Given the description of an element on the screen output the (x, y) to click on. 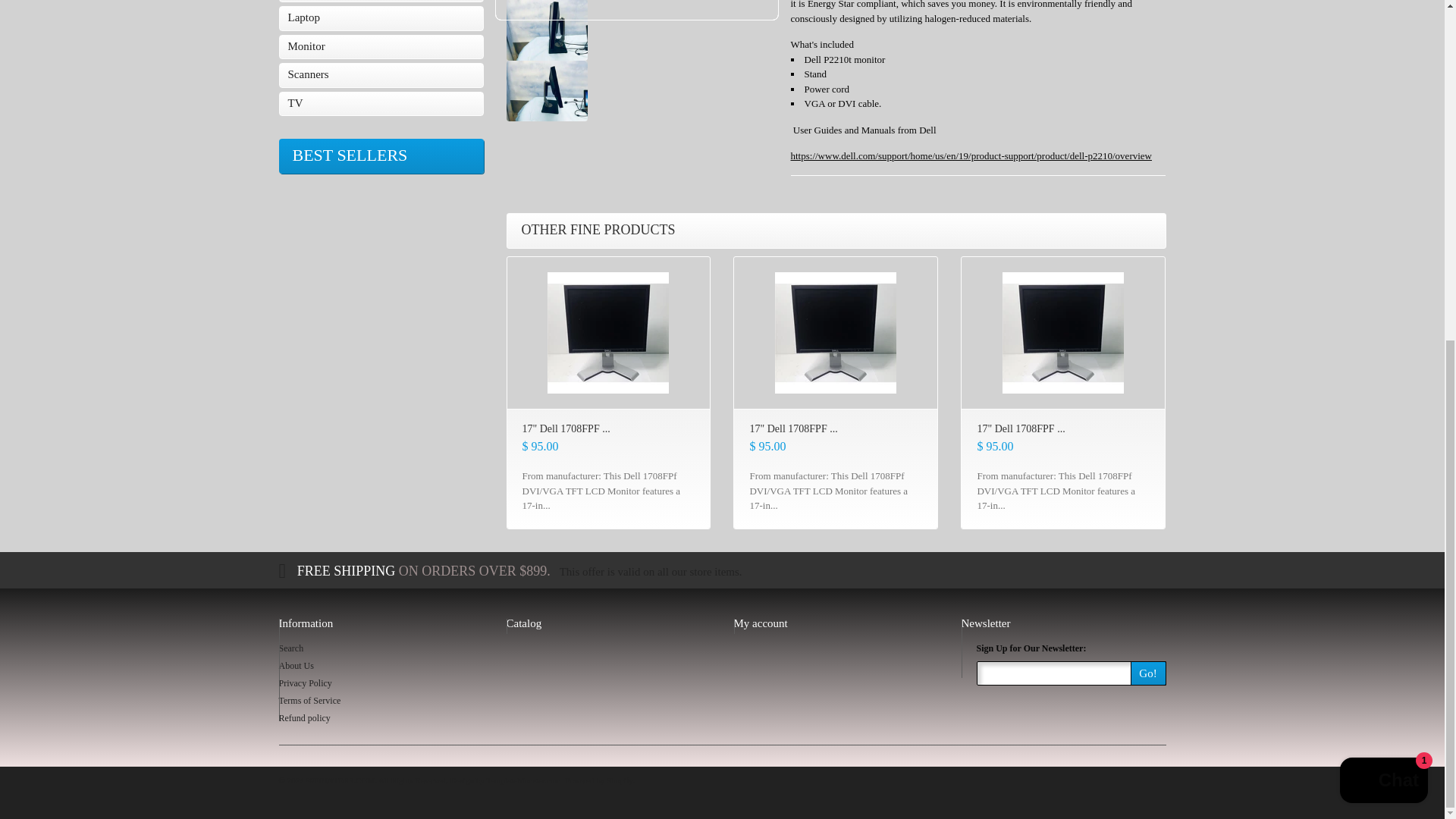
17" Dell 1708FPF ... (793, 428)
17" Dell 1708FPF ... (566, 428)
17" Dell 1708FPF ... (1021, 428)
